Given the description of an element on the screen output the (x, y) to click on. 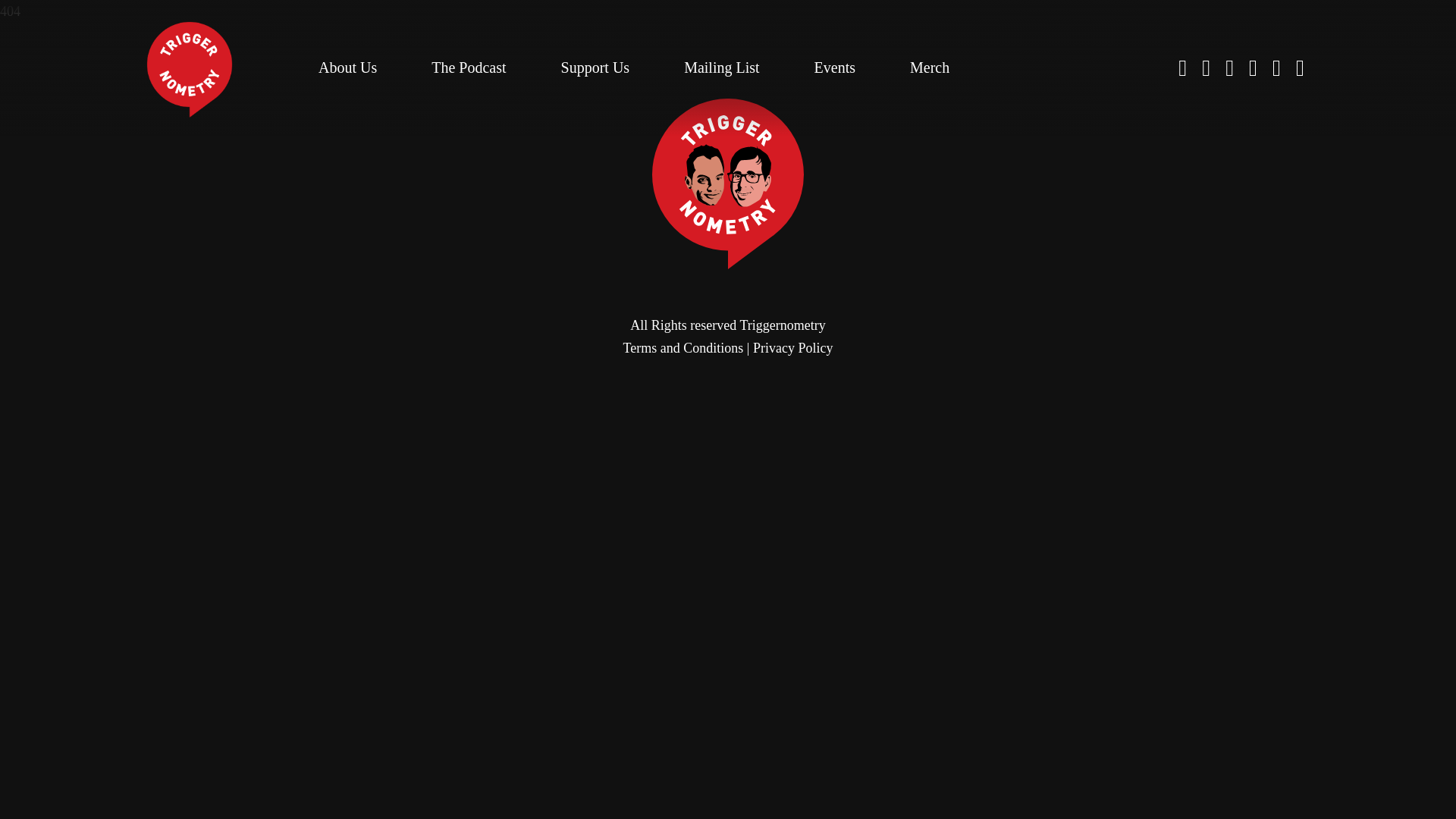
About Us (347, 67)
Events (834, 67)
Privacy Policy (792, 347)
The Podcast (467, 67)
Mailing List (721, 67)
Terms and Conditions (683, 347)
Support Us (595, 67)
Merch (929, 67)
